Given the description of an element on the screen output the (x, y) to click on. 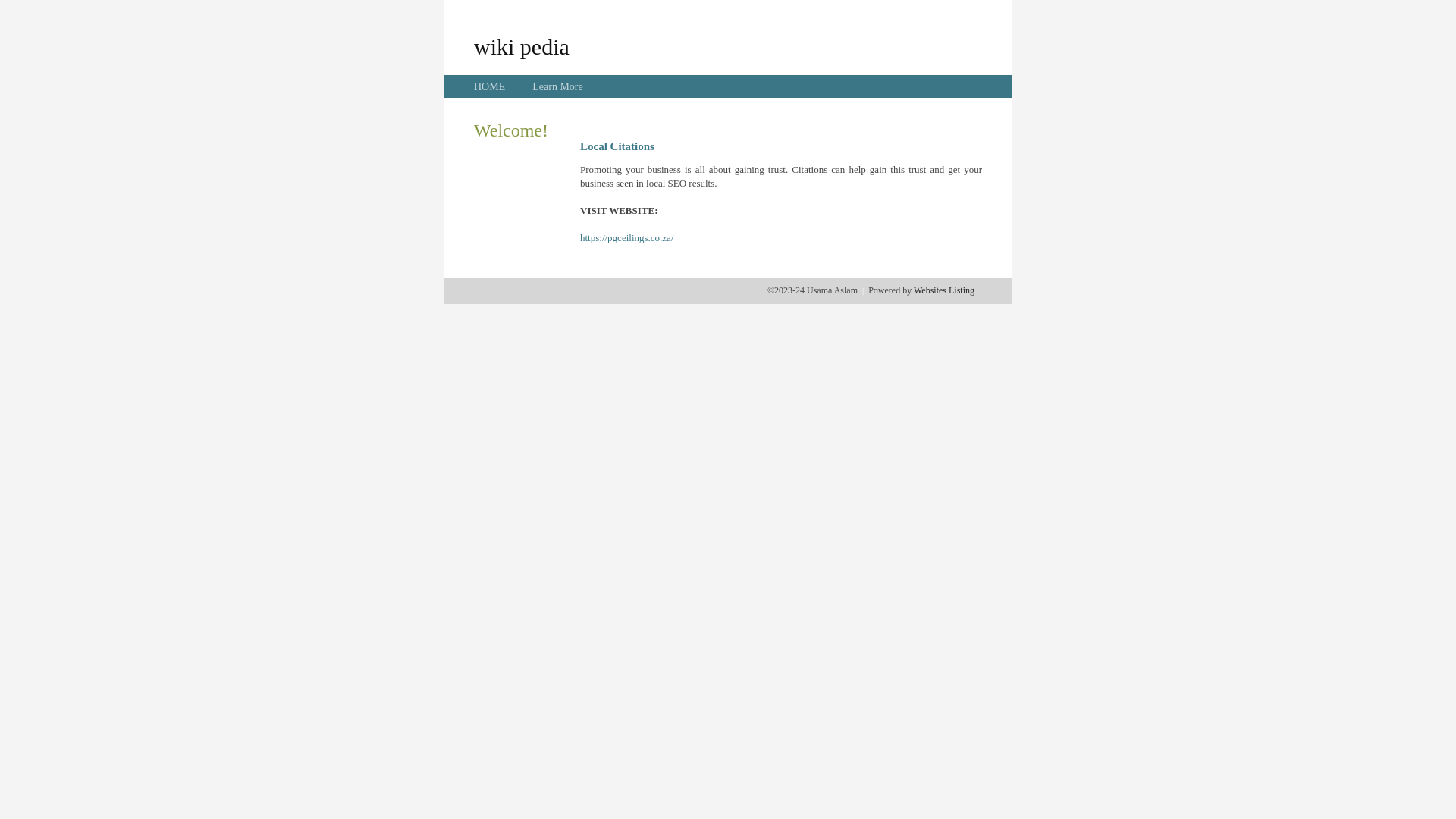
https://pgceilings.co.za/ Element type: text (626, 237)
HOME Element type: text (489, 86)
Websites Listing Element type: text (943, 290)
wiki pedia Element type: text (521, 46)
Learn More Element type: text (557, 86)
